Given the description of an element on the screen output the (x, y) to click on. 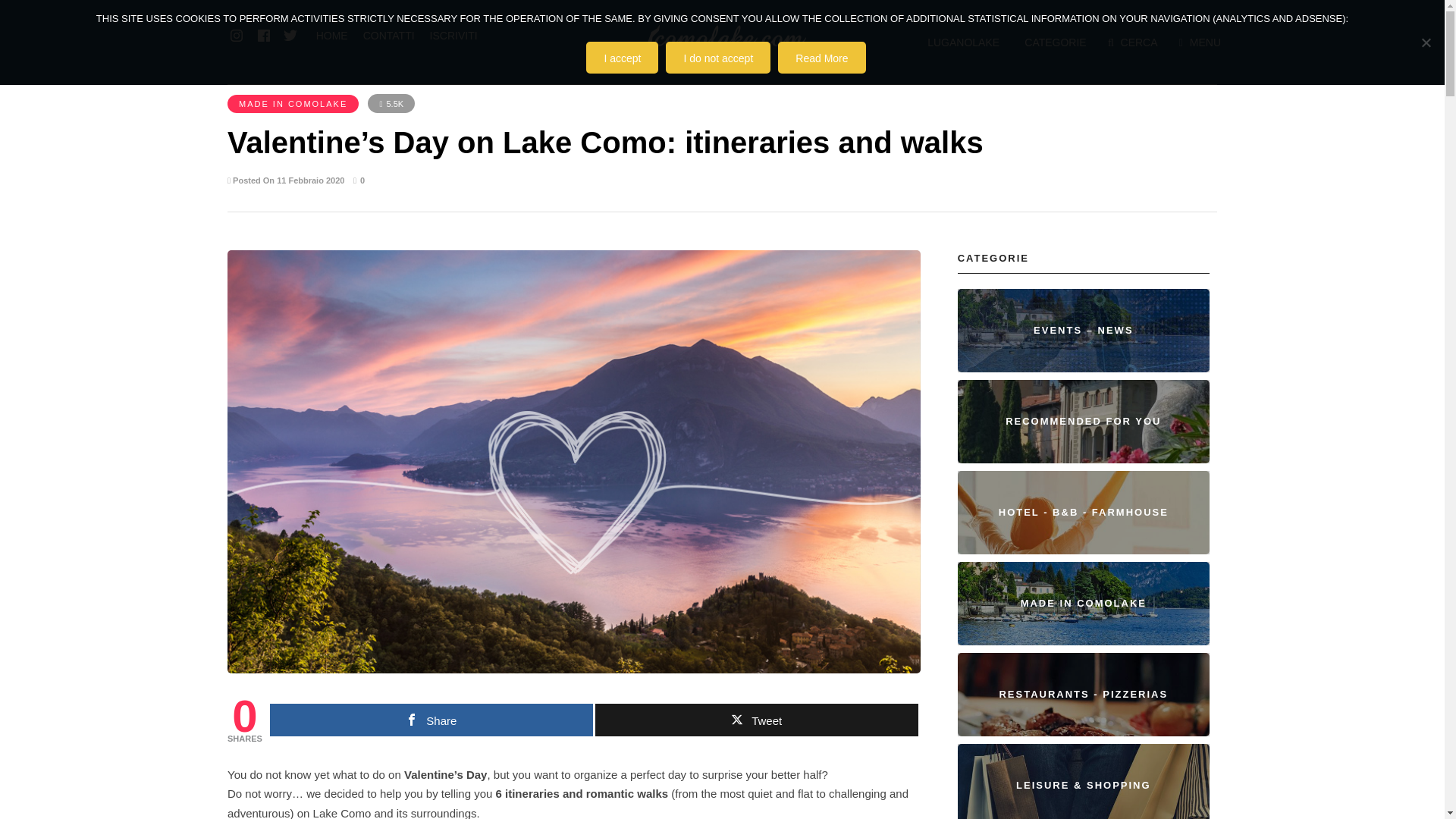
HOME (331, 35)
CATEGORIE (1052, 41)
CERCA (1133, 41)
MENU (1200, 41)
CONTATTI (388, 35)
ISCRIVITI (453, 35)
LUGANOLAKE (961, 41)
